Given the description of an element on the screen output the (x, y) to click on. 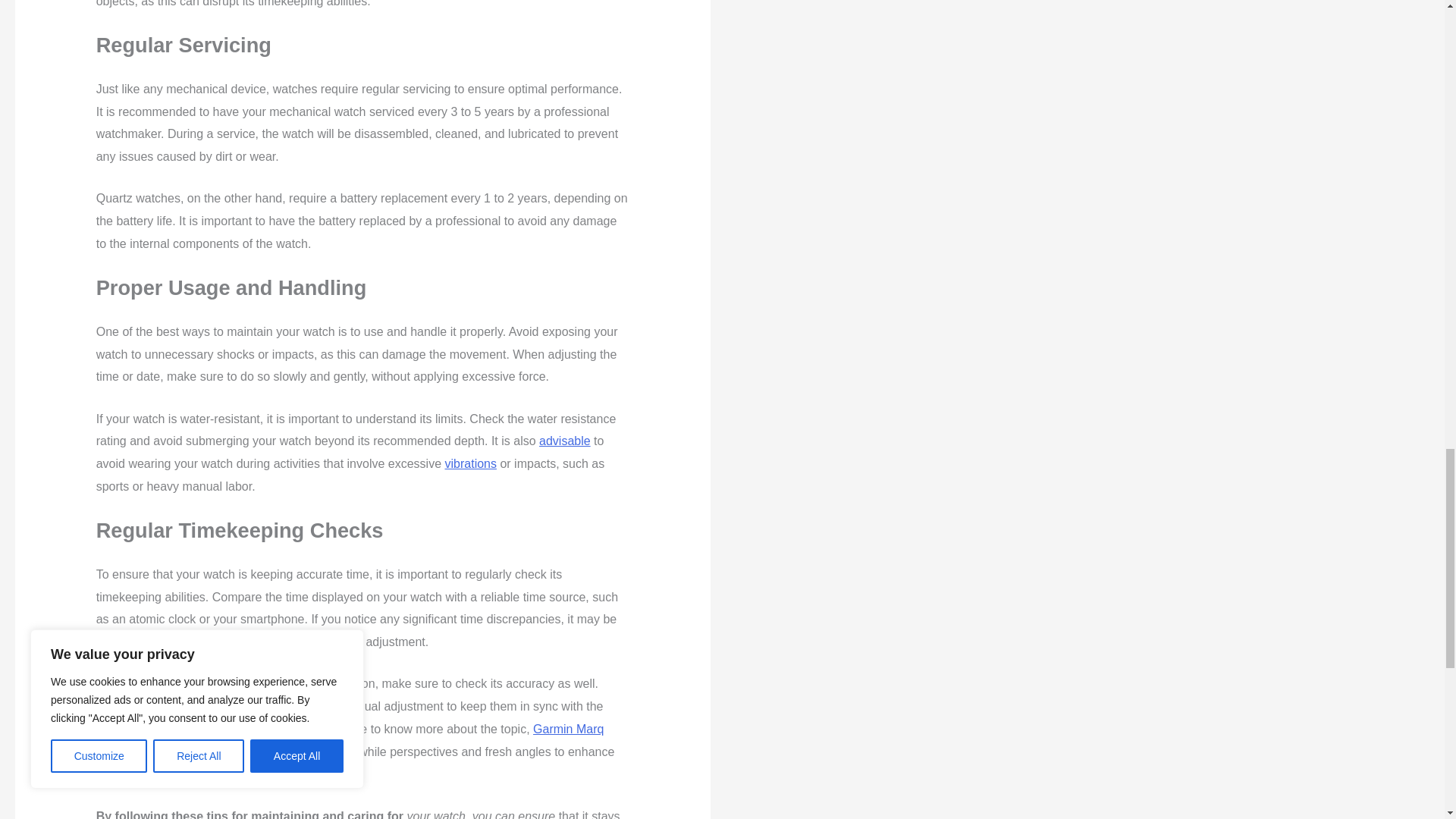
Garmin Marq Gen 2 (350, 740)
vibrations (470, 463)
advisable (564, 440)
